Given the description of an element on the screen output the (x, y) to click on. 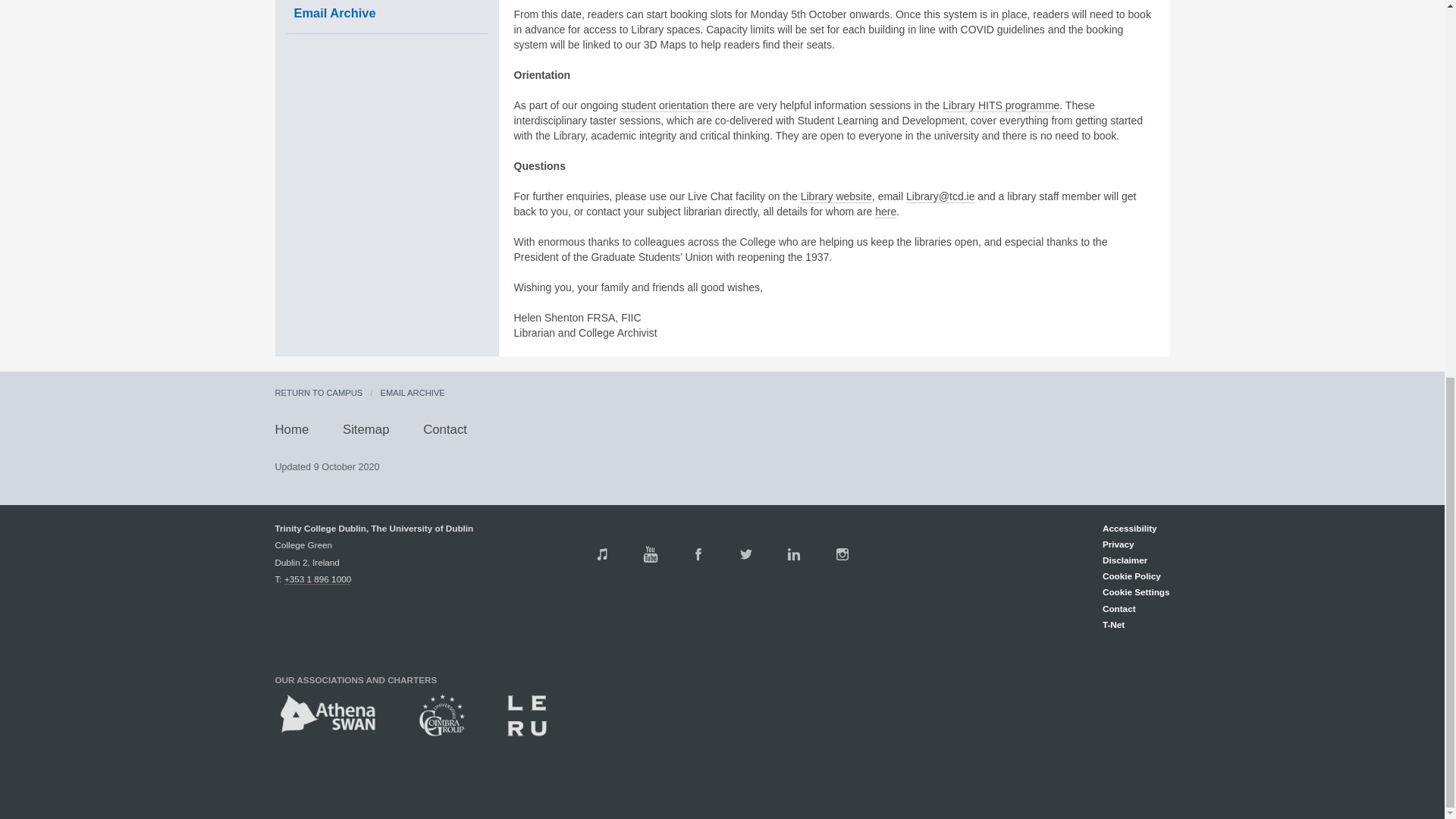
here (885, 211)
student orientation (664, 105)
EMAIL ARCHIVE (412, 391)
Library HITS programme (1000, 105)
Contact (445, 429)
Sitemap (366, 429)
Library website (836, 196)
RETURN TO CAMPUS (318, 391)
Home (291, 429)
